Given the description of an element on the screen output the (x, y) to click on. 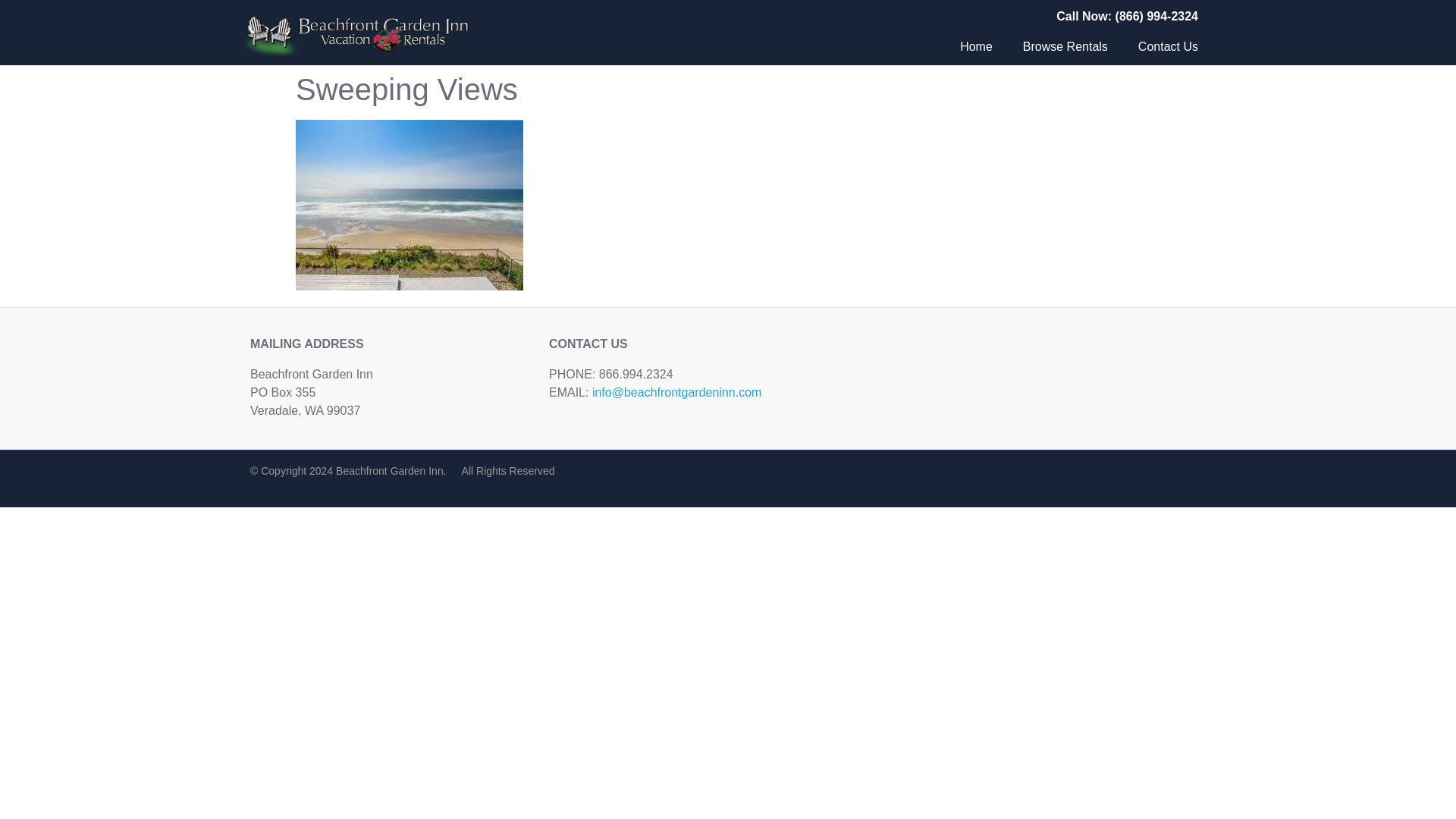
Contact Us (1167, 46)
Browse Rentals (1064, 46)
Beachfront Garden Inn. (391, 470)
Home (975, 46)
